Given the description of an element on the screen output the (x, y) to click on. 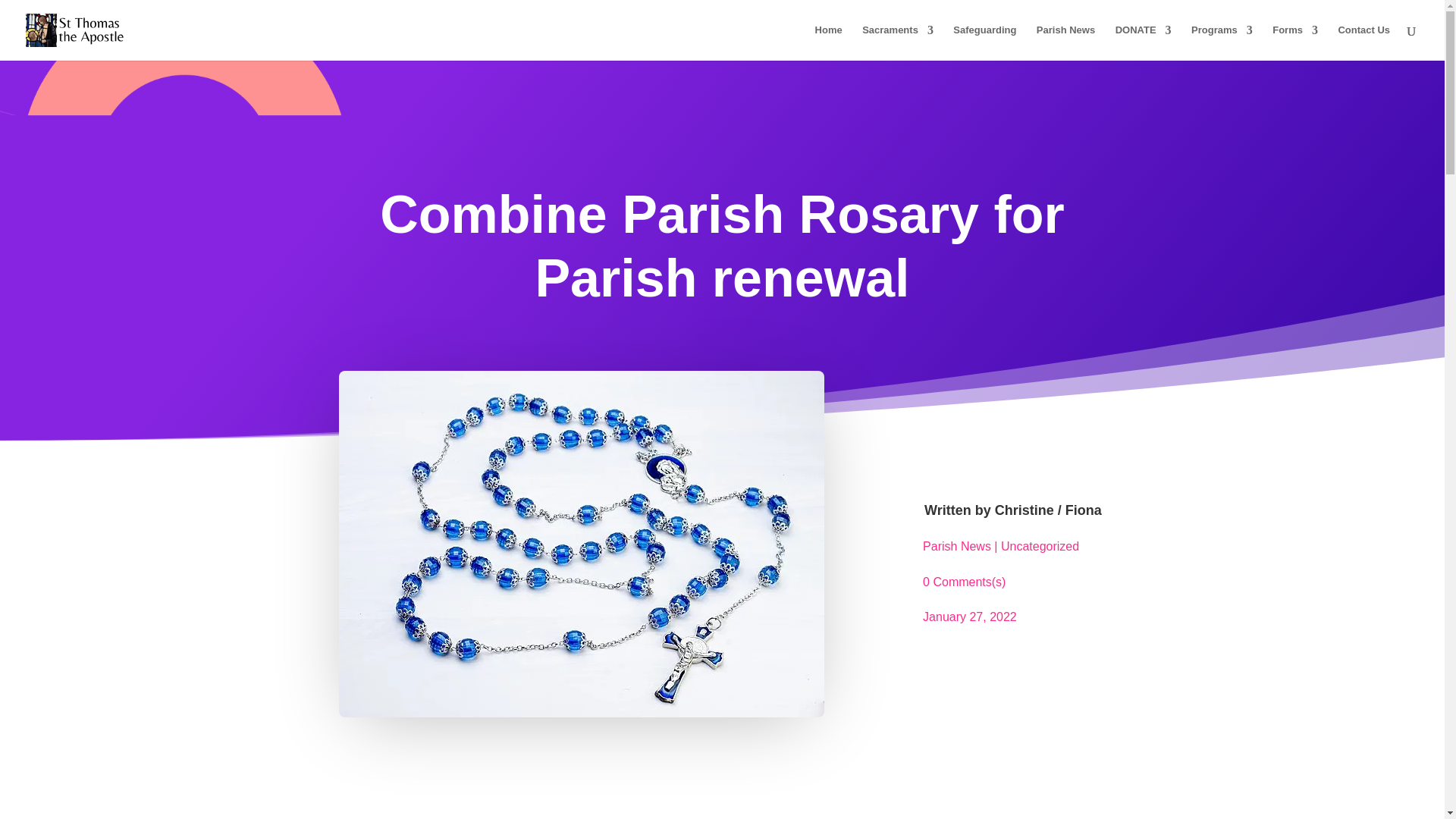
Parish News (1065, 42)
Programs (1221, 42)
DONATE (1143, 42)
Safeguarding (984, 42)
Forms (1294, 42)
Uncategorized (1039, 545)
Parish News (957, 545)
Sacraments (897, 42)
Contact Us (1364, 42)
